Given the description of an element on the screen output the (x, y) to click on. 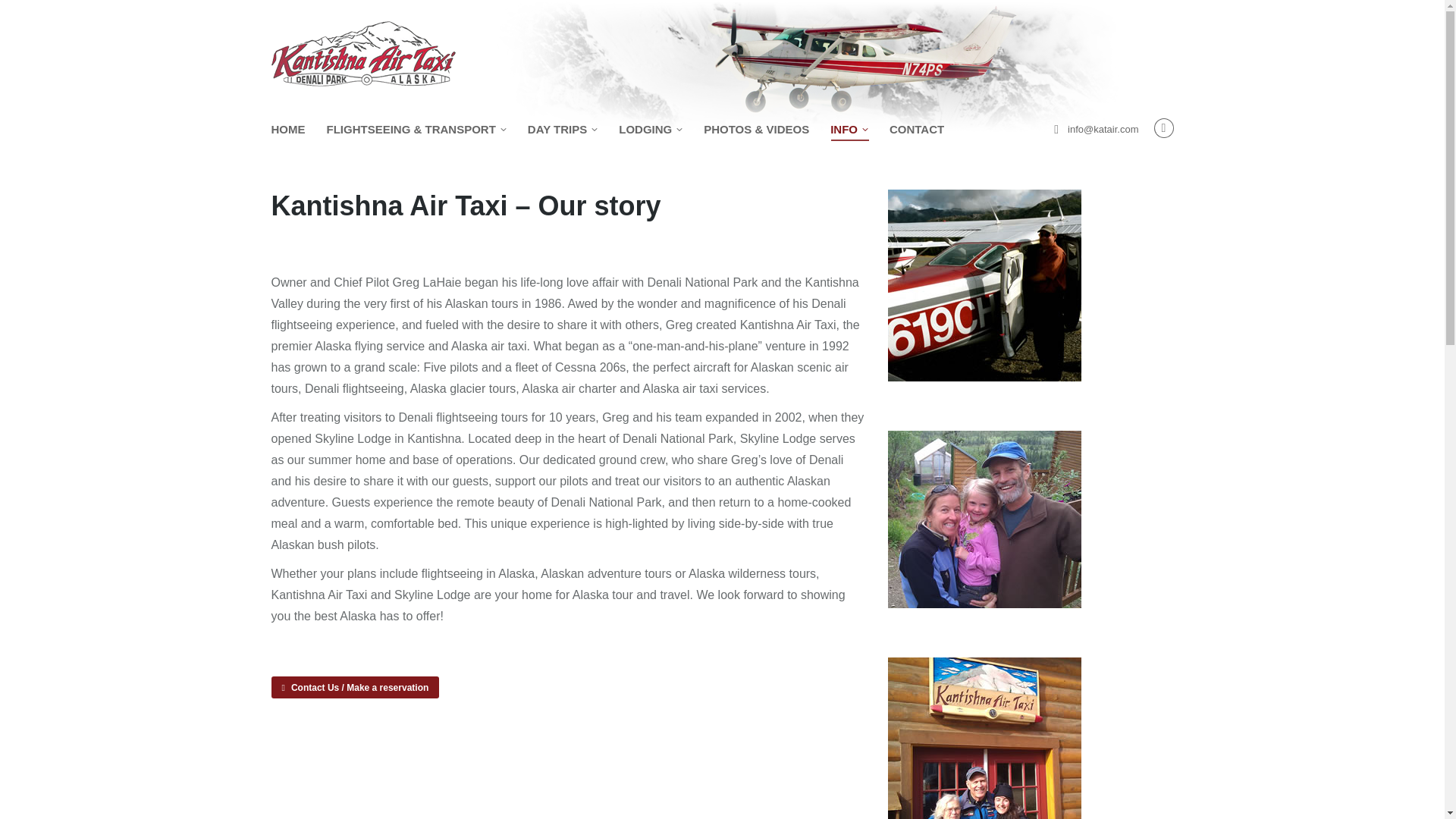
matt-daughter (984, 519)
DAY TRIPS (561, 128)
Facebook page opens in new window (1163, 127)
CONTACT (916, 128)
Facebook page opens in new window (1163, 127)
HOME (287, 128)
cook (984, 738)
greg (984, 285)
INFO (848, 128)
LODGING (650, 128)
